Given the description of an element on the screen output the (x, y) to click on. 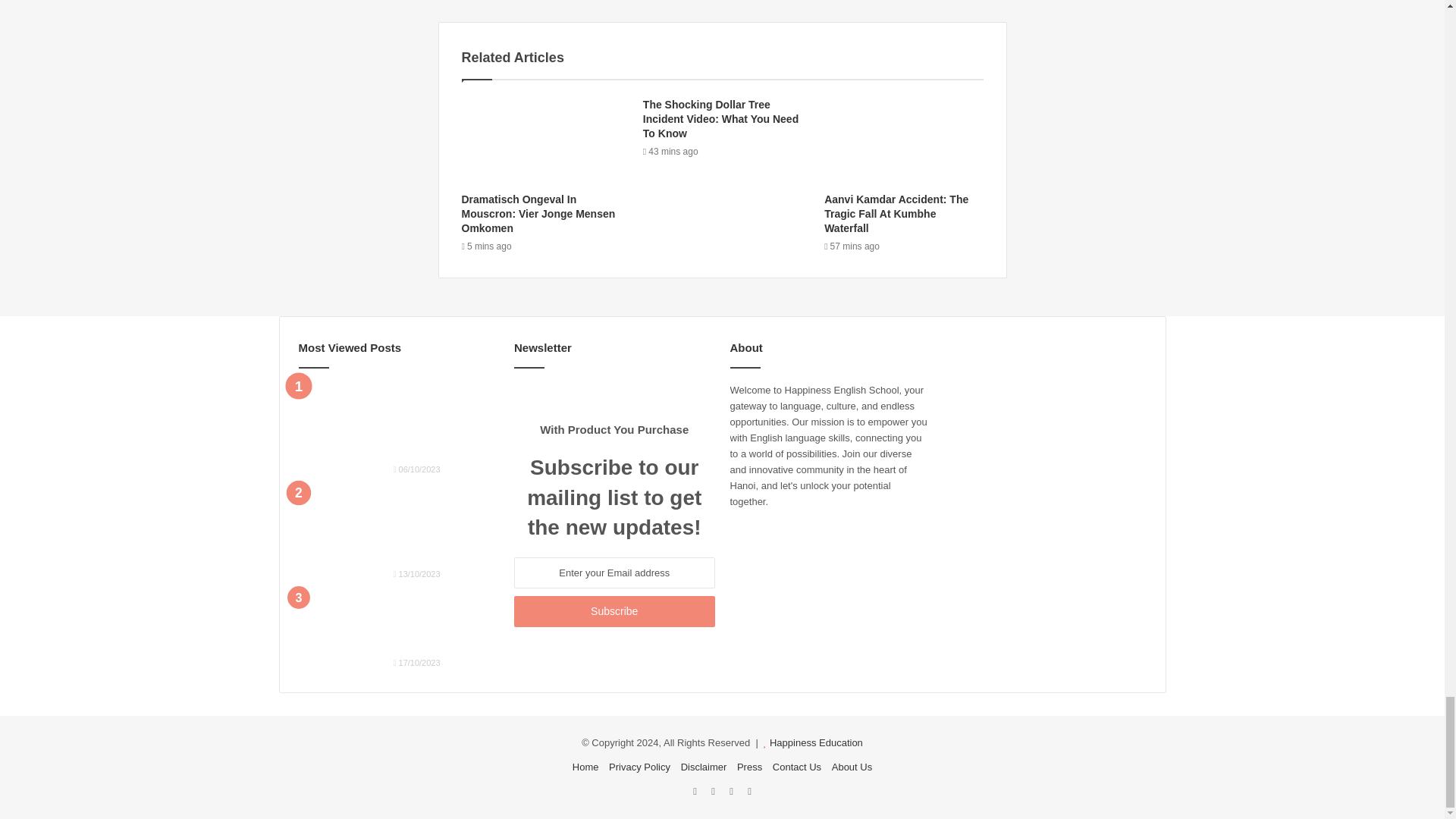
Subscribe (613, 611)
